Given the description of an element on the screen output the (x, y) to click on. 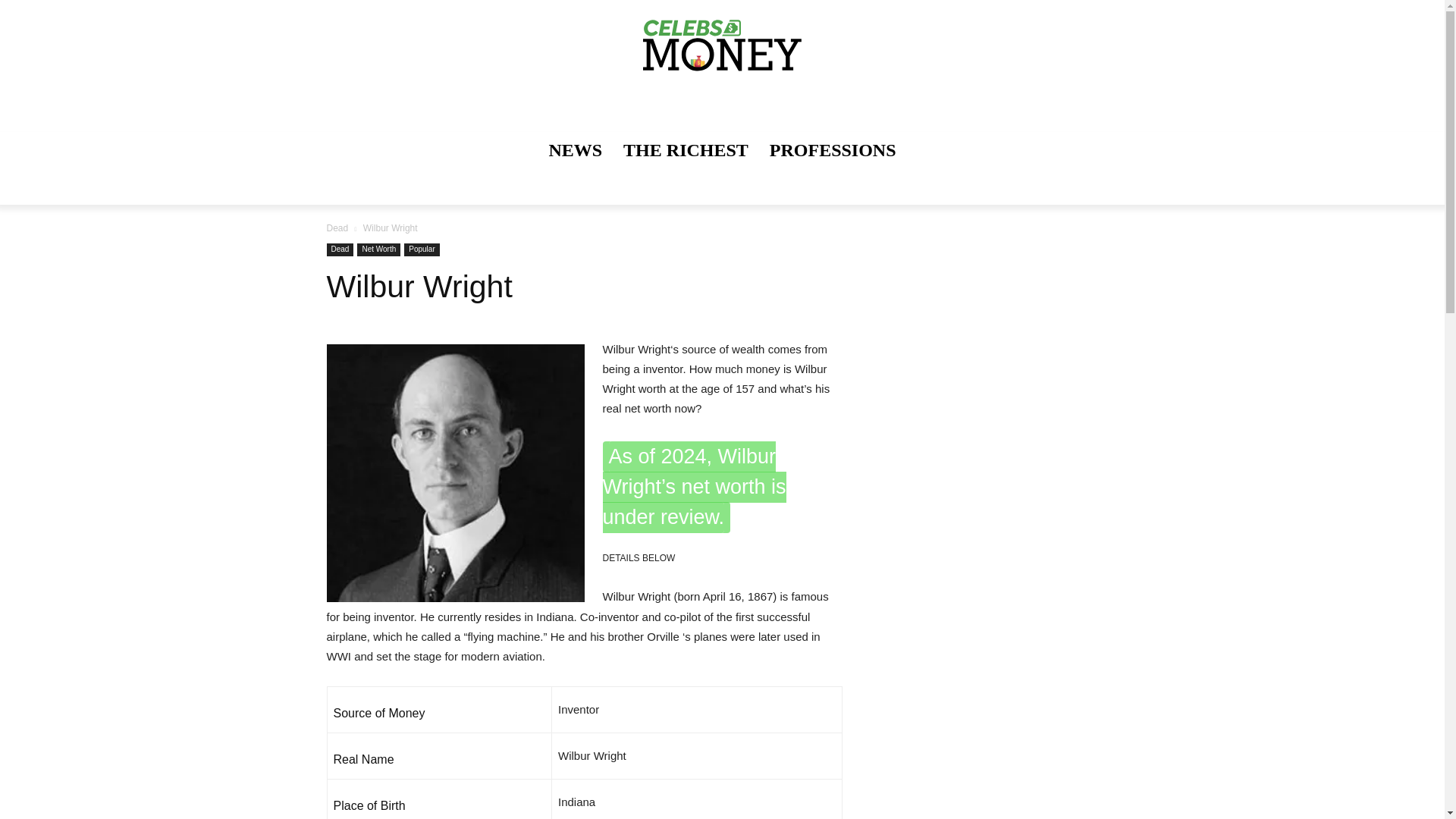
Net Worth (378, 249)
Richest Celebrities By Profession (832, 149)
View all posts in Dead (336, 227)
Popular (421, 249)
NEWS (574, 149)
Dead (339, 249)
Richest Celebrities In The World (685, 149)
Celebrity Net Worth (722, 47)
PROFESSIONS (832, 149)
THE RICHEST (685, 149)
